Given the description of an element on the screen output the (x, y) to click on. 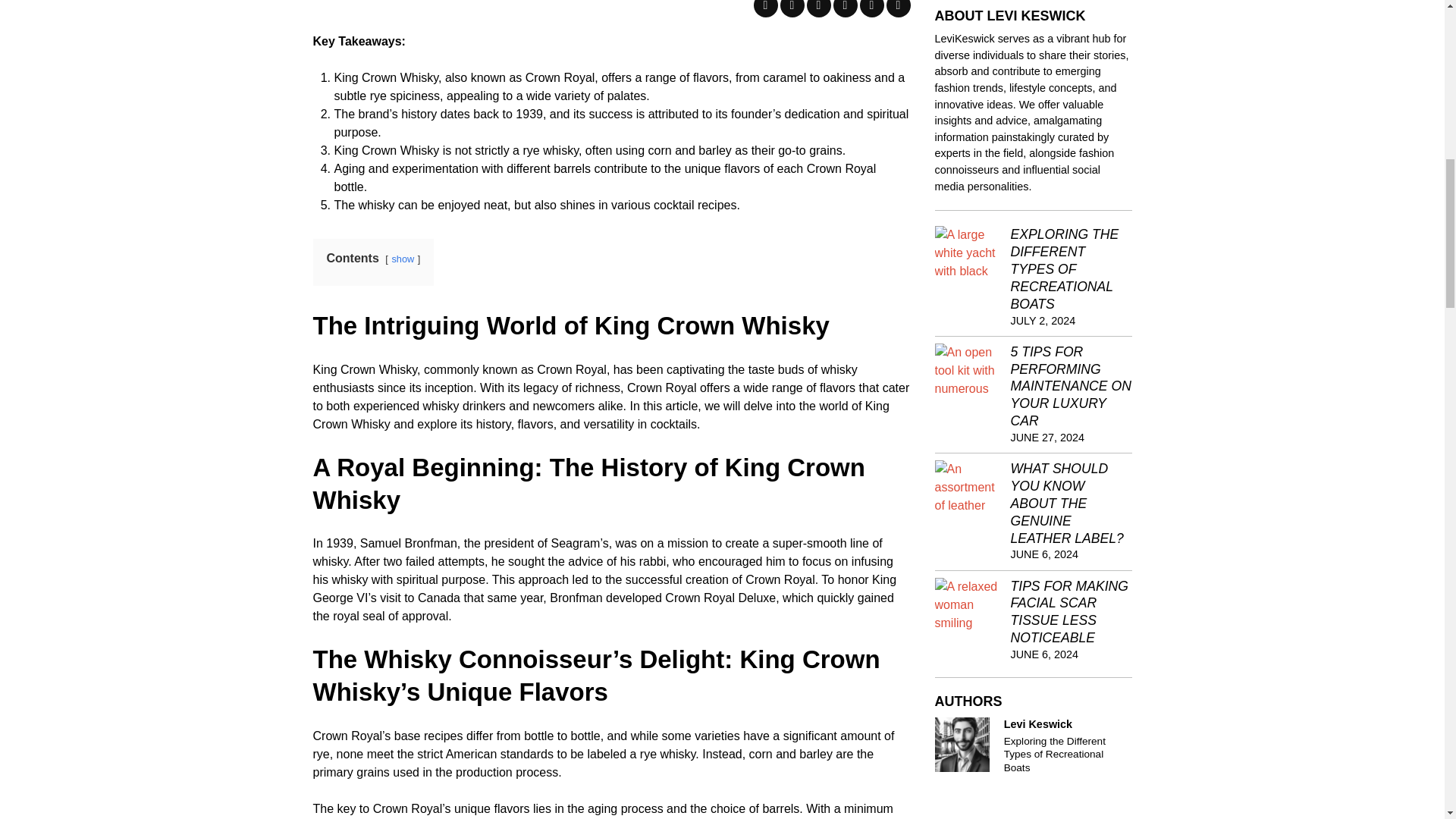
27 Jun, 2024 14:49:16 (1047, 437)
06 Jun, 2024 15:10:51 (1044, 654)
show (402, 258)
06 Jun, 2024 17:11:52 (1044, 554)
02 Jul, 2024 19:54:07 (1042, 319)
Levi Keswick (961, 744)
